Given the description of an element on the screen output the (x, y) to click on. 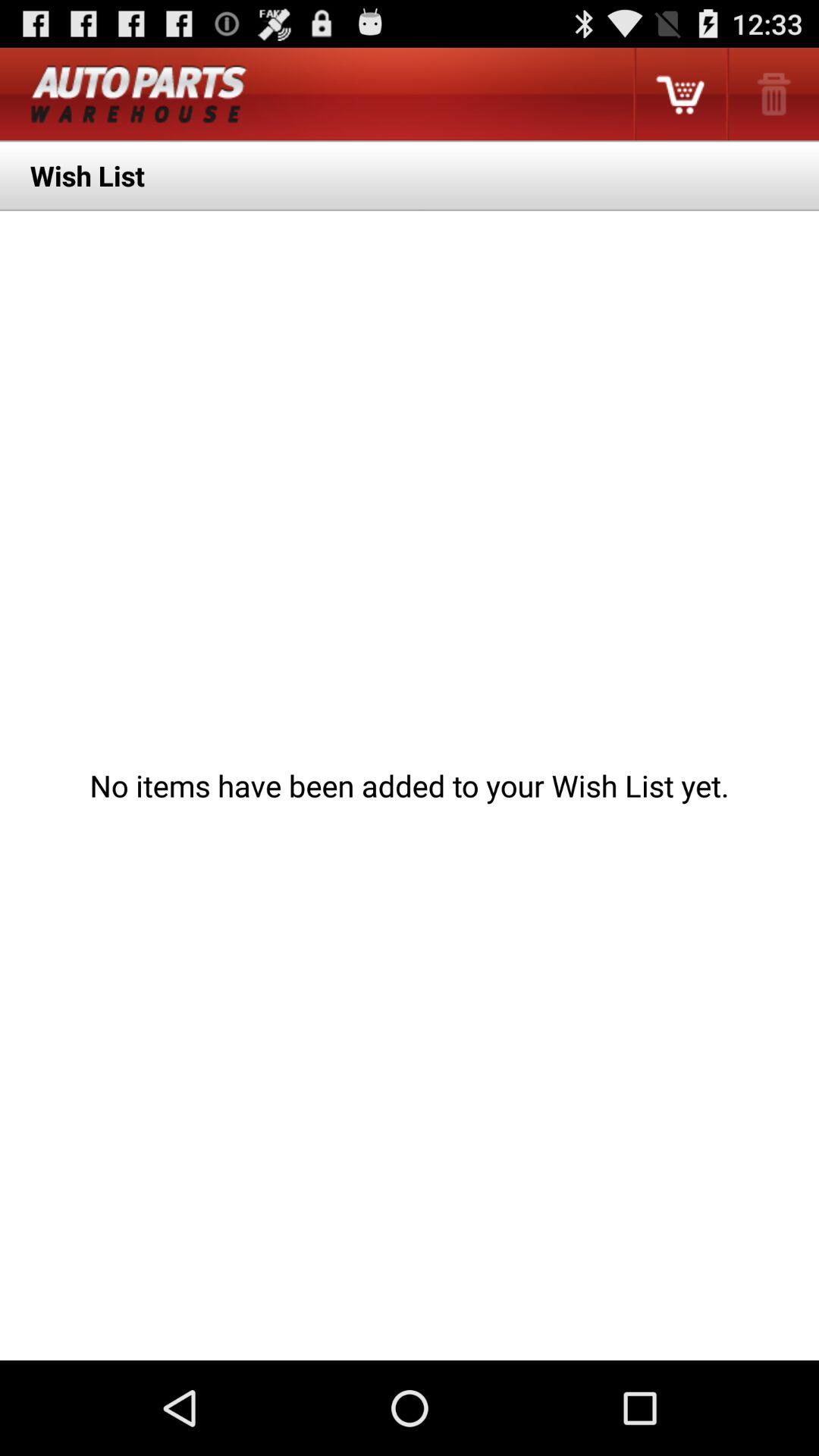
turn off the app above the wish list item (772, 93)
